Given the description of an element on the screen output the (x, y) to click on. 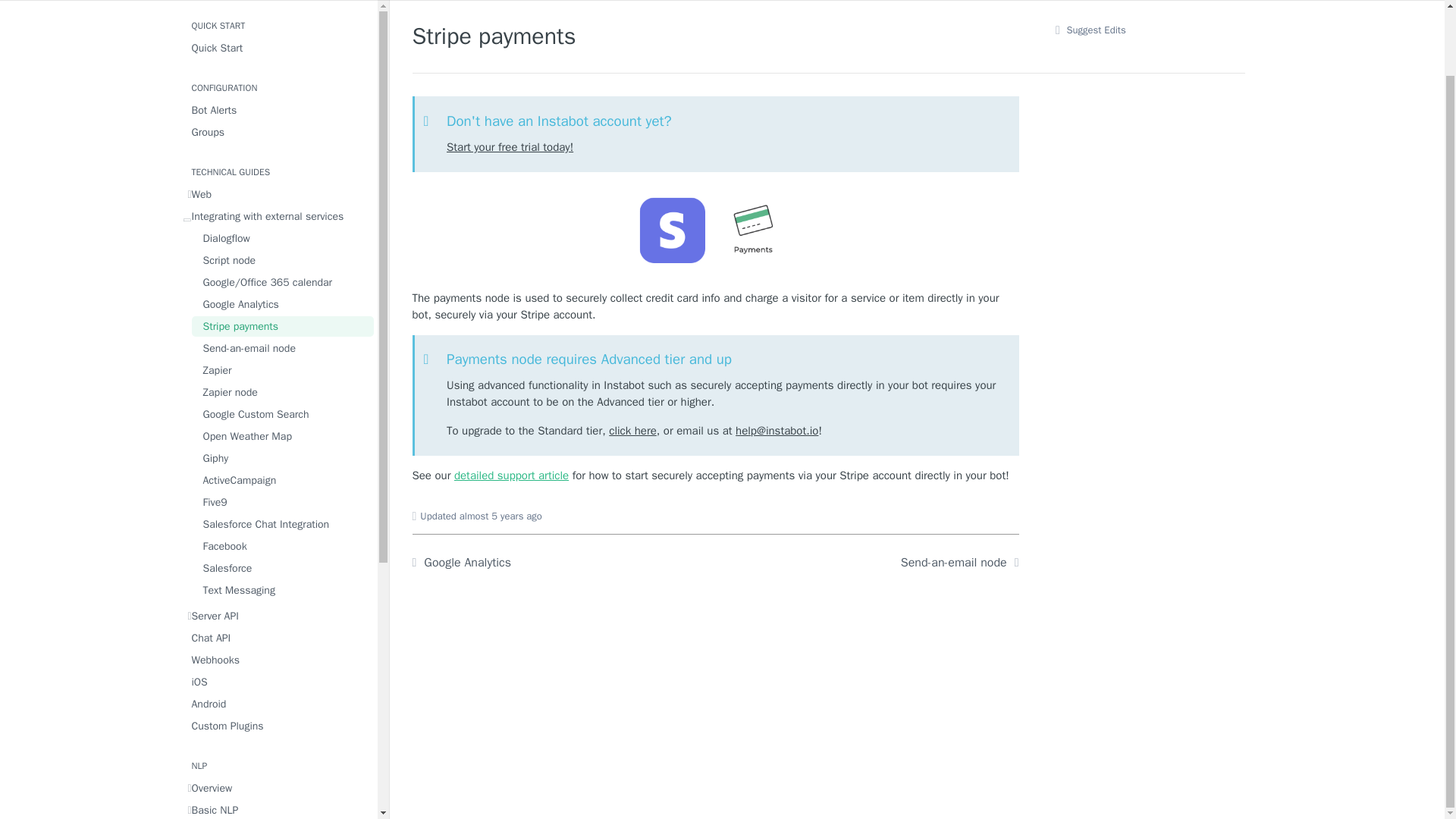
Integrating with external services (277, 216)
Quick Start (277, 47)
Script node (281, 260)
Dialogflow (281, 238)
Bot Alerts (277, 109)
Web (277, 194)
Screen Shot 2019-09-27 at 10.49.06 AM.png (715, 230)
Google Analytics (281, 304)
Groups (277, 132)
